Given the description of an element on the screen output the (x, y) to click on. 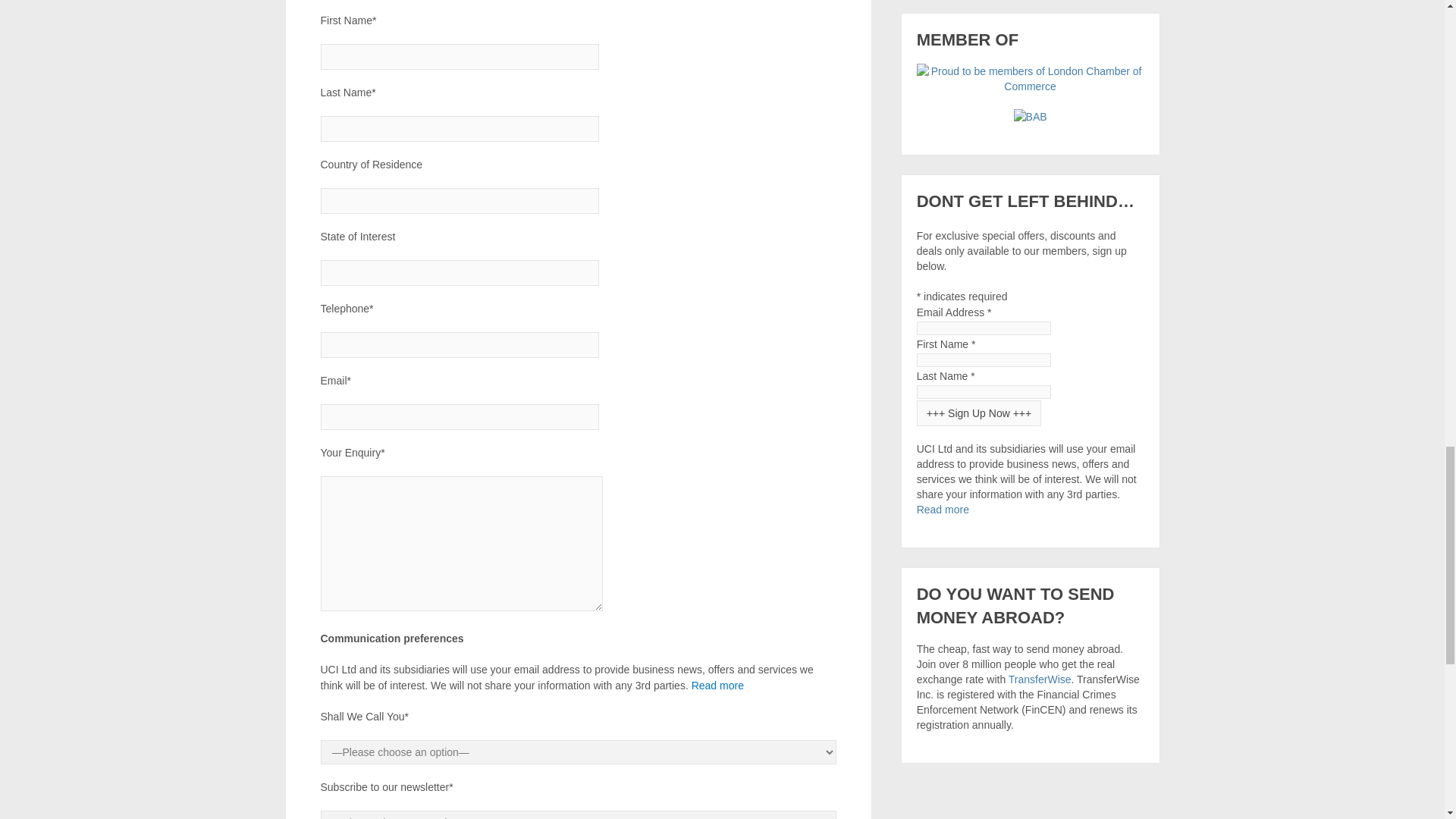
Read more (717, 685)
